Given the description of an element on the screen output the (x, y) to click on. 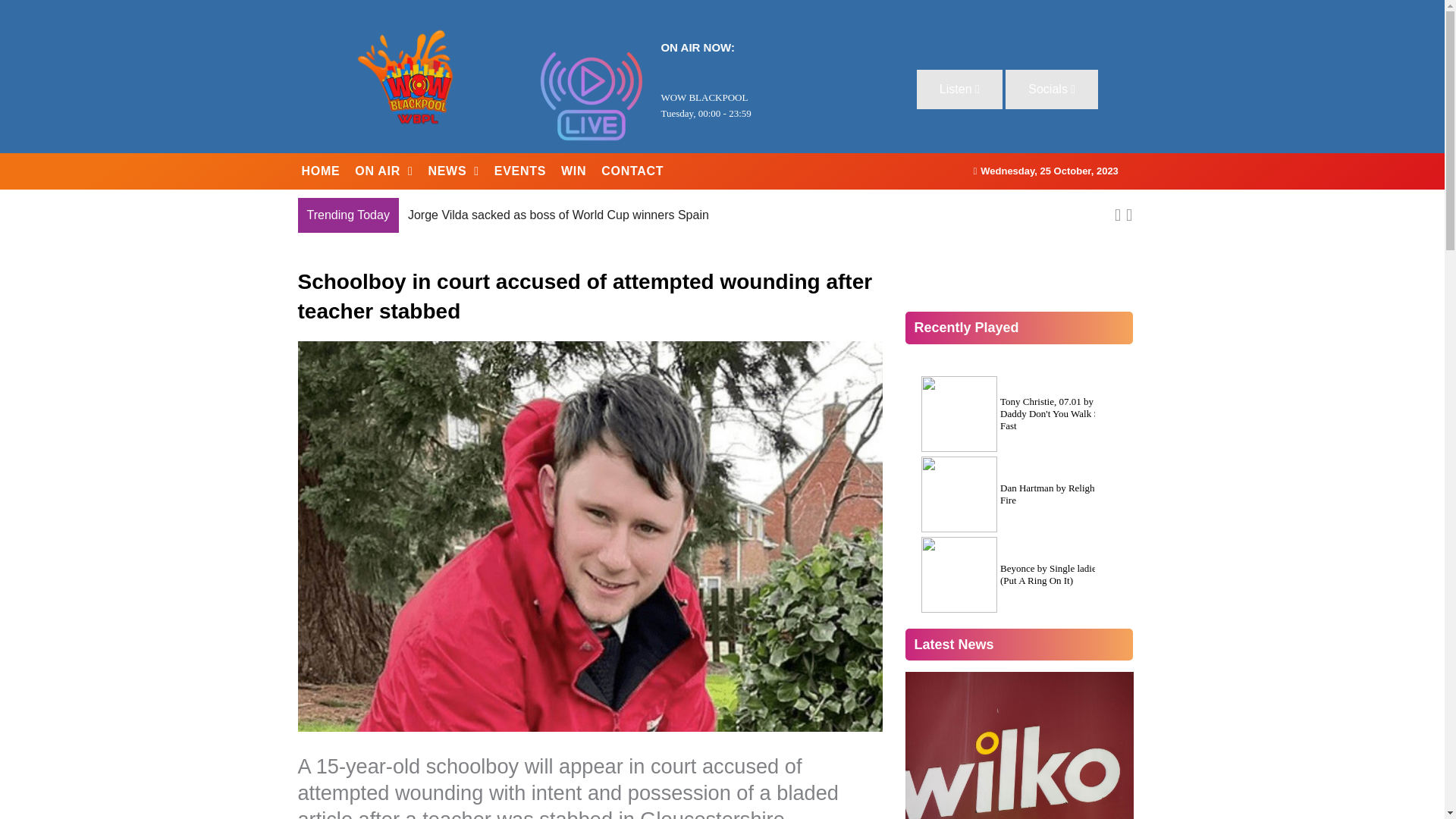
Listen (960, 88)
WIN (573, 171)
Socials (1051, 88)
CONTACT (632, 171)
ON AIR (383, 171)
NEWS (453, 171)
HOME (320, 171)
EVENTS (519, 171)
